Given the description of an element on the screen output the (x, y) to click on. 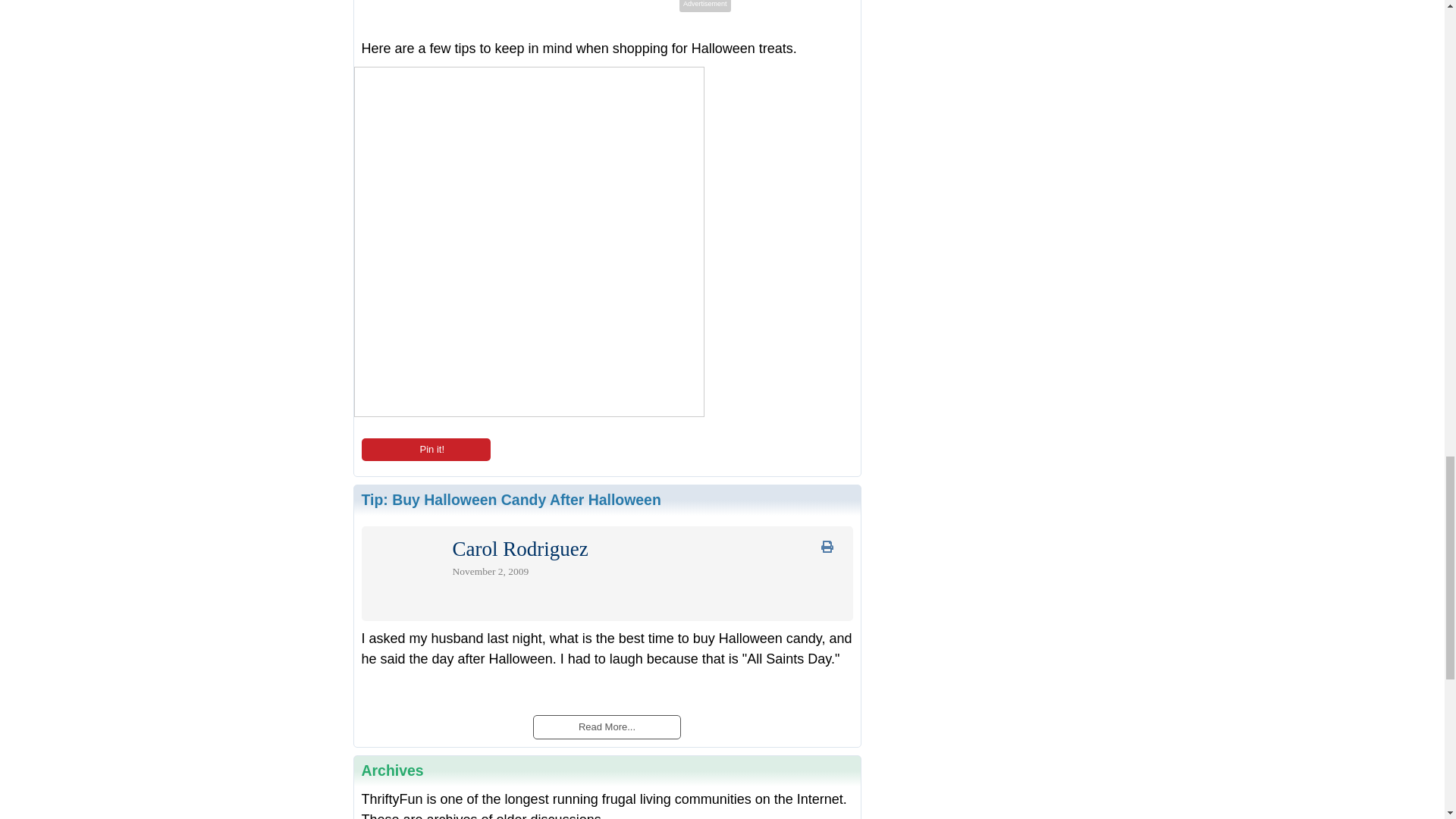
Read More... (605, 725)
 Pin it! (425, 449)
Carol Rodriguez (519, 552)
Tip: Buy Halloween Candy After Halloween (511, 499)
